Given the description of an element on the screen output the (x, y) to click on. 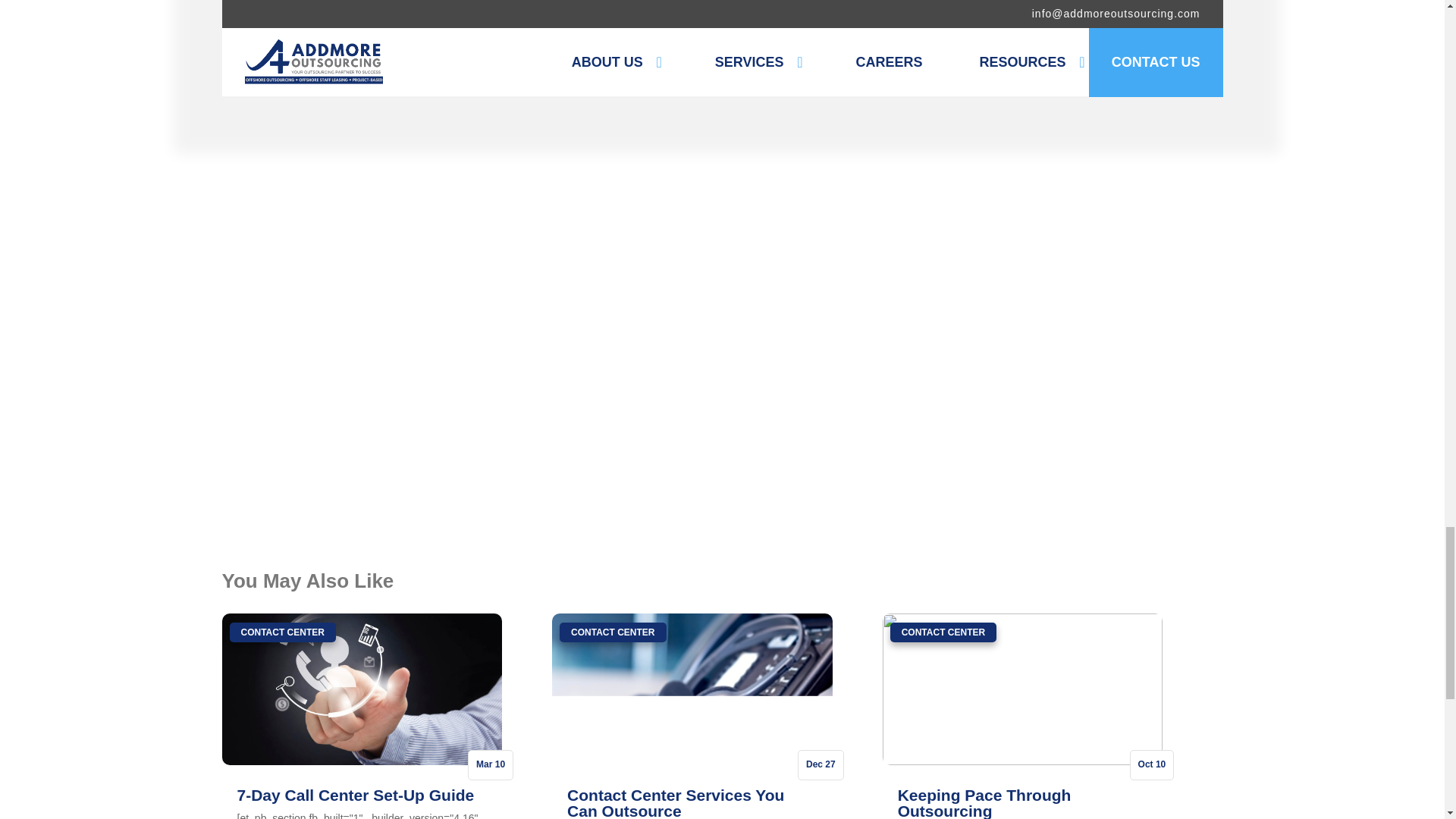
Submit (514, 471)
